Given the description of an element on the screen output the (x, y) to click on. 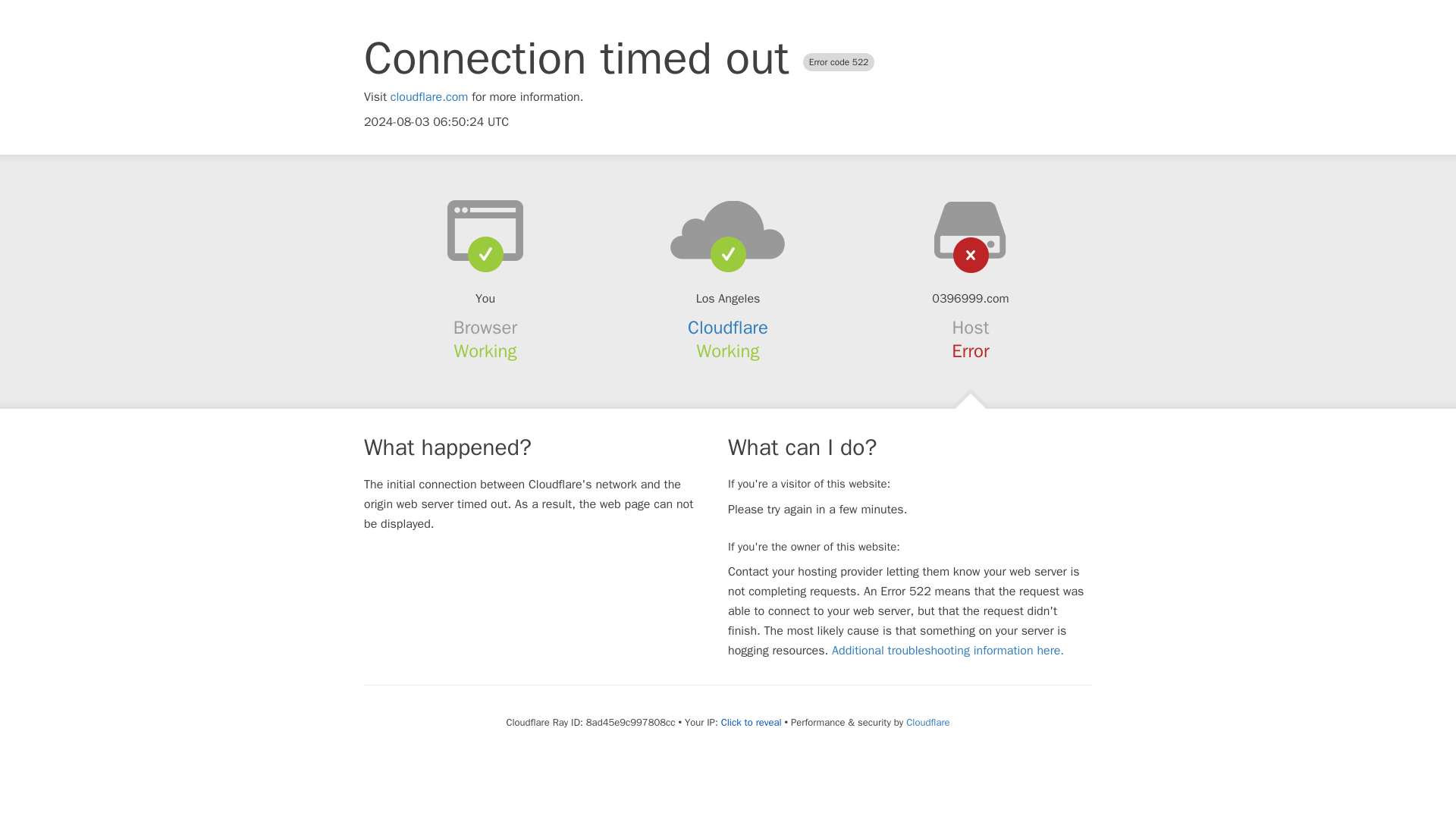
cloudflare.com (429, 96)
Click to reveal (750, 722)
Cloudflare (927, 721)
Additional troubleshooting information here. (947, 650)
Cloudflare (727, 327)
